Given the description of an element on the screen output the (x, y) to click on. 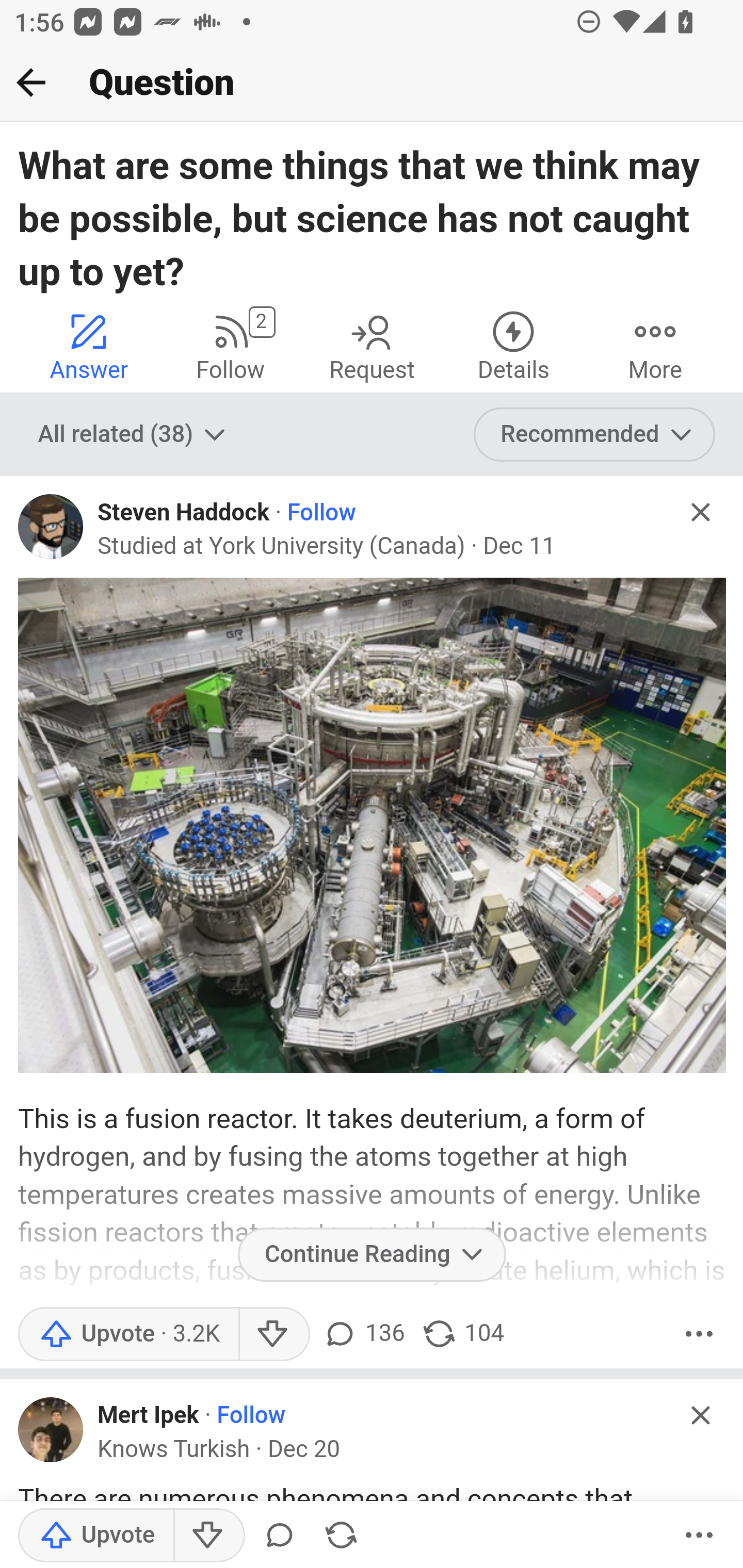
Back (30, 82)
Answer (88, 345)
2 Follow (230, 345)
Request (371, 345)
Details (513, 345)
More (655, 345)
All related (38) (133, 434)
Recommended (594, 434)
Hide (700, 511)
Profile photo for Steven Haddock (50, 526)
Steven Haddock (184, 513)
Follow (321, 513)
main-qimg-029a9037e03d208acb161ae660cb906f (371, 826)
Continue Reading (371, 1254)
Upvote (127, 1333)
Downvote (273, 1333)
136 comments (362, 1333)
104 shares (461, 1333)
More (699, 1333)
Hide (700, 1414)
Profile photo for Mert Ipek (50, 1428)
Mert Ipek (148, 1415)
Follow (251, 1415)
main-qimg-ebe7d92c3fe864e0bc918762b2eb291c (371, 1498)
Upvote (95, 1535)
Downvote (208, 1535)
Comment (278, 1535)
Share (341, 1535)
More (699, 1535)
